Given the description of an element on the screen output the (x, y) to click on. 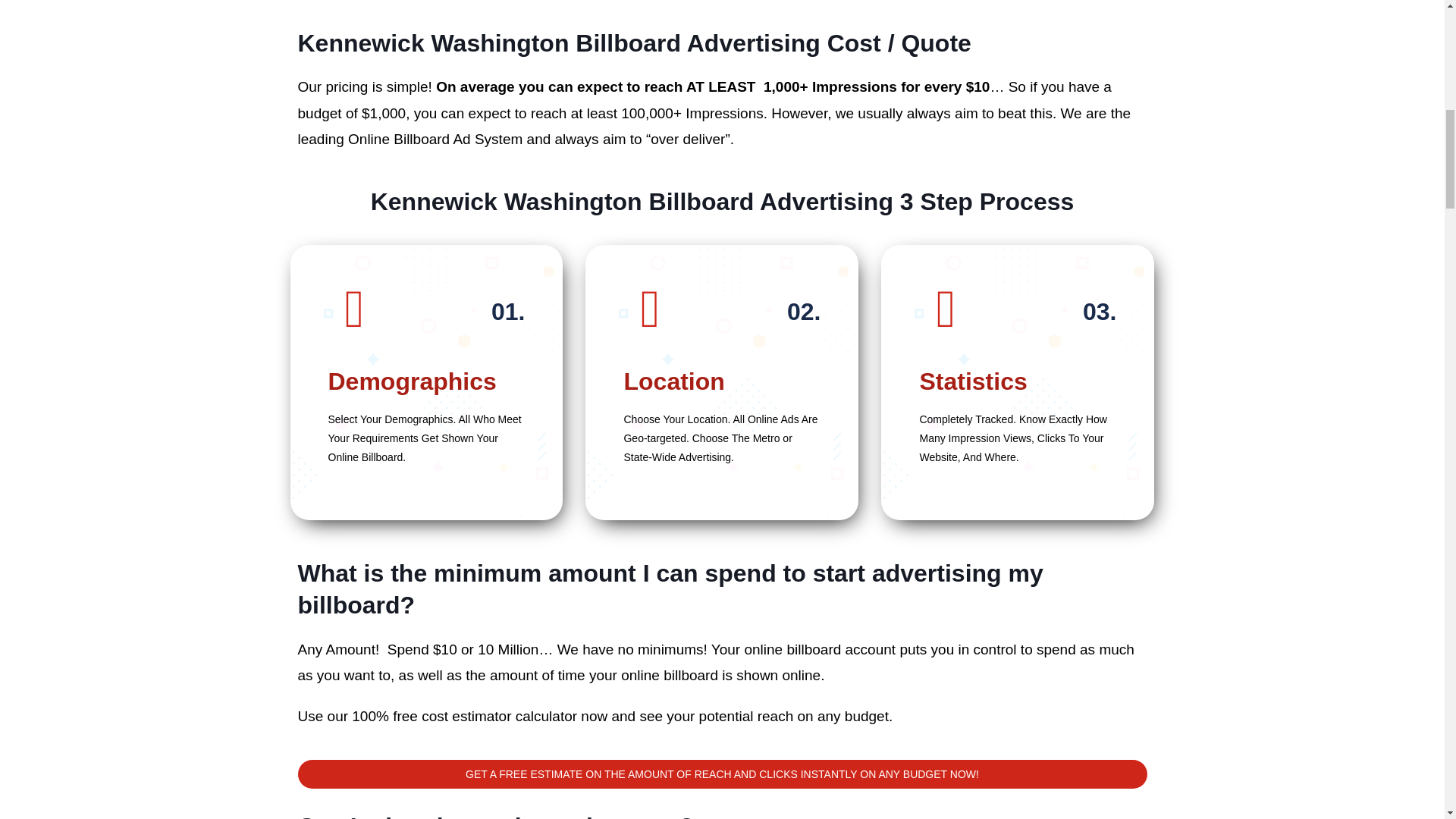
Statistics (972, 380)
Location (673, 380)
Demographics (411, 380)
